Given the description of an element on the screen output the (x, y) to click on. 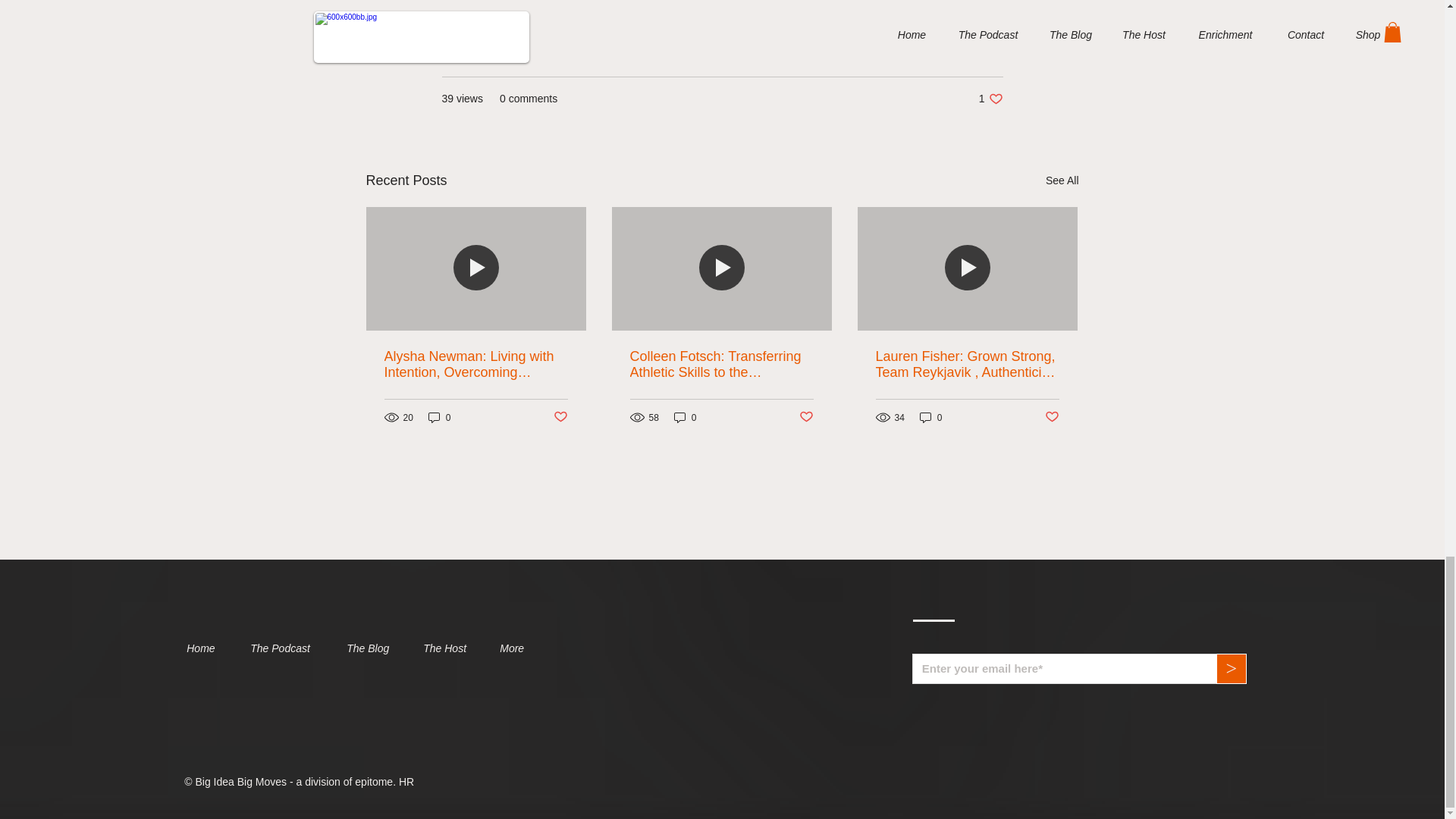
Post not marked as liked (1052, 417)
0 (930, 417)
0 (685, 417)
0 (439, 417)
Home (206, 648)
Post not marked as liked (806, 417)
See All (1061, 180)
Post not marked as liked (560, 417)
